Given the description of an element on the screen output the (x, y) to click on. 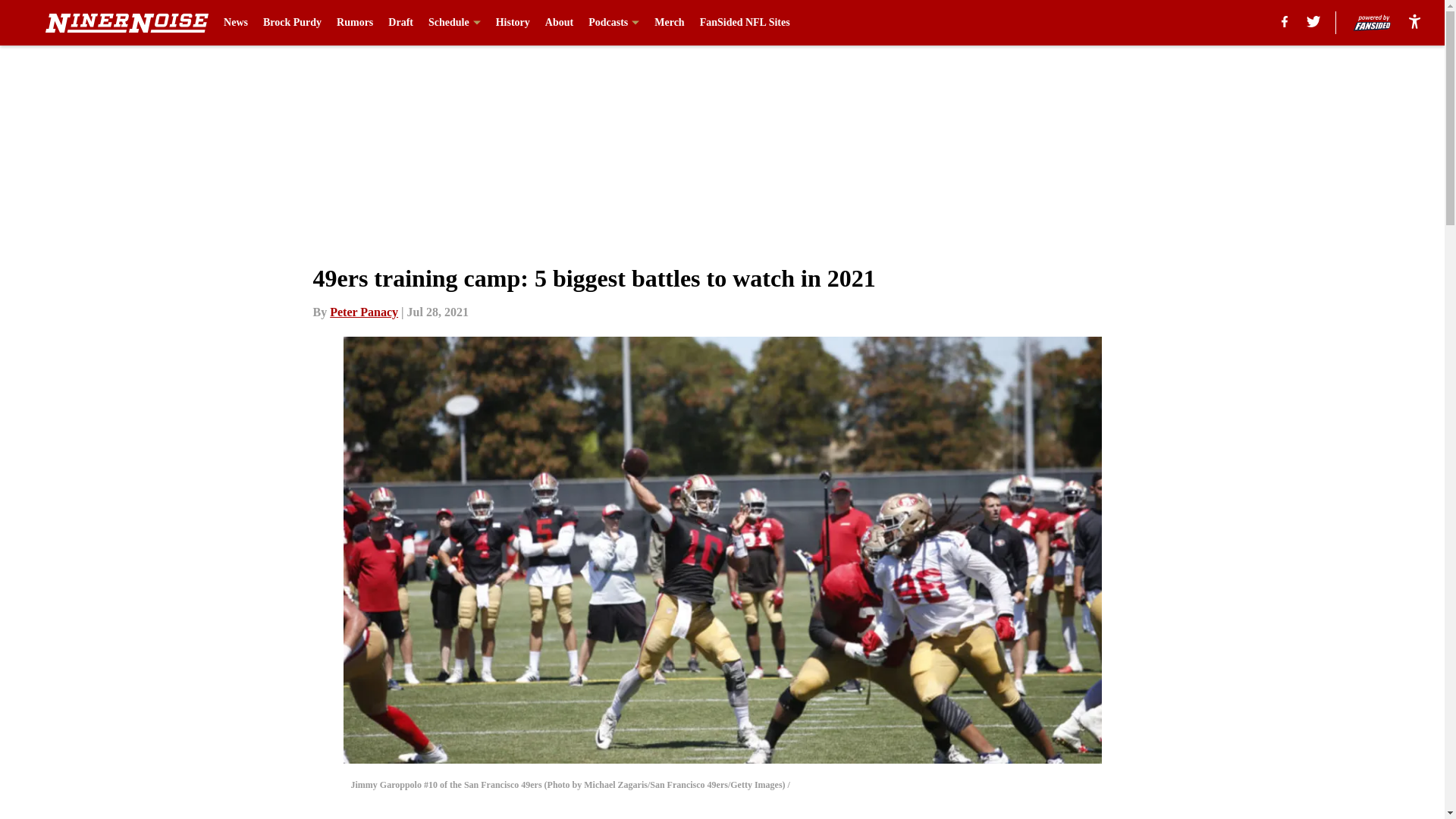
News (235, 22)
Brock Purdy (292, 22)
About (558, 22)
Draft (400, 22)
History (512, 22)
Rumors (354, 22)
Merch (668, 22)
FanSided NFL Sites (745, 22)
Peter Panacy (363, 311)
